Given the description of an element on the screen output the (x, y) to click on. 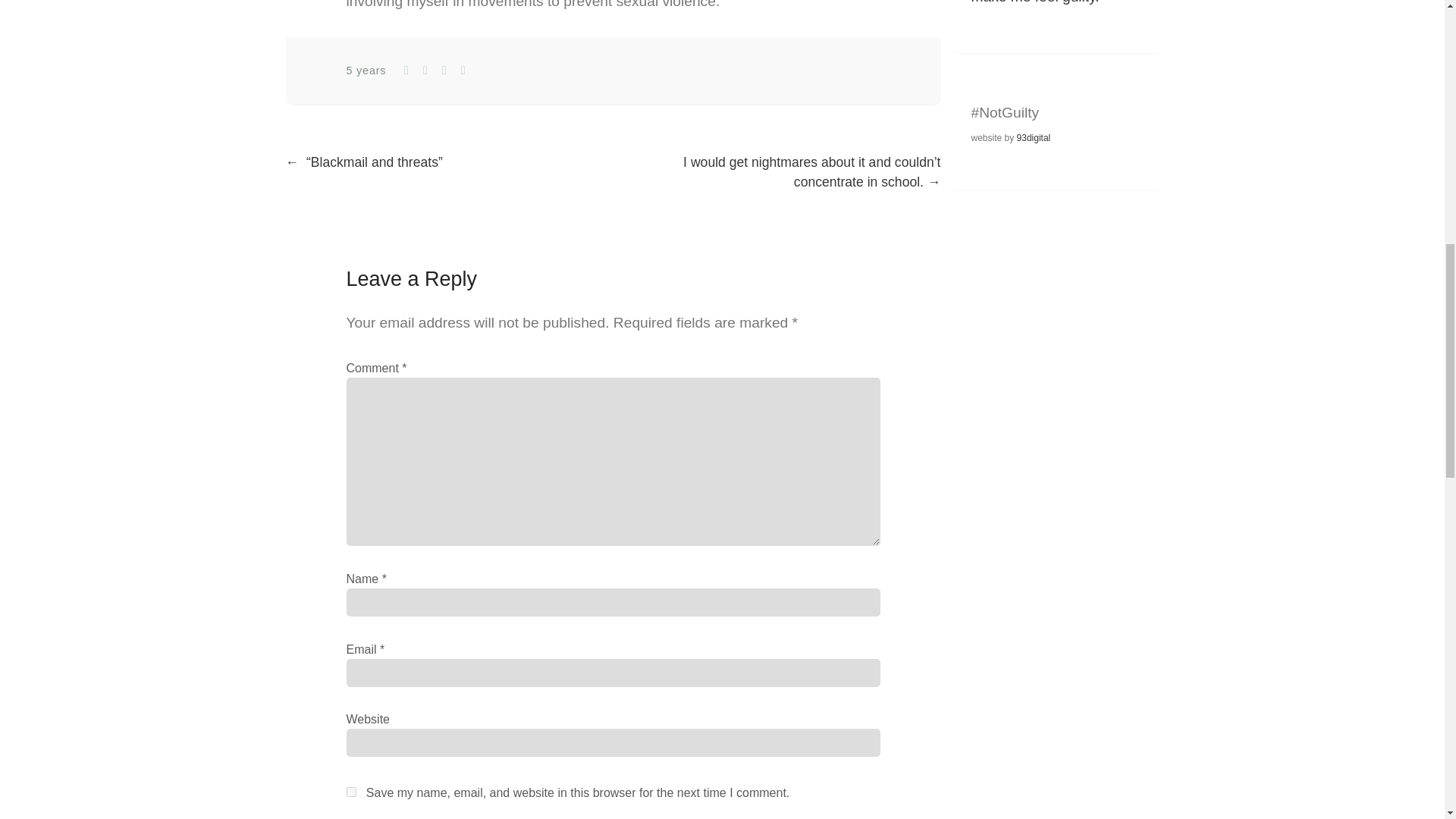
yes (350, 791)
93digital (1033, 137)
